Given the description of an element on the screen output the (x, y) to click on. 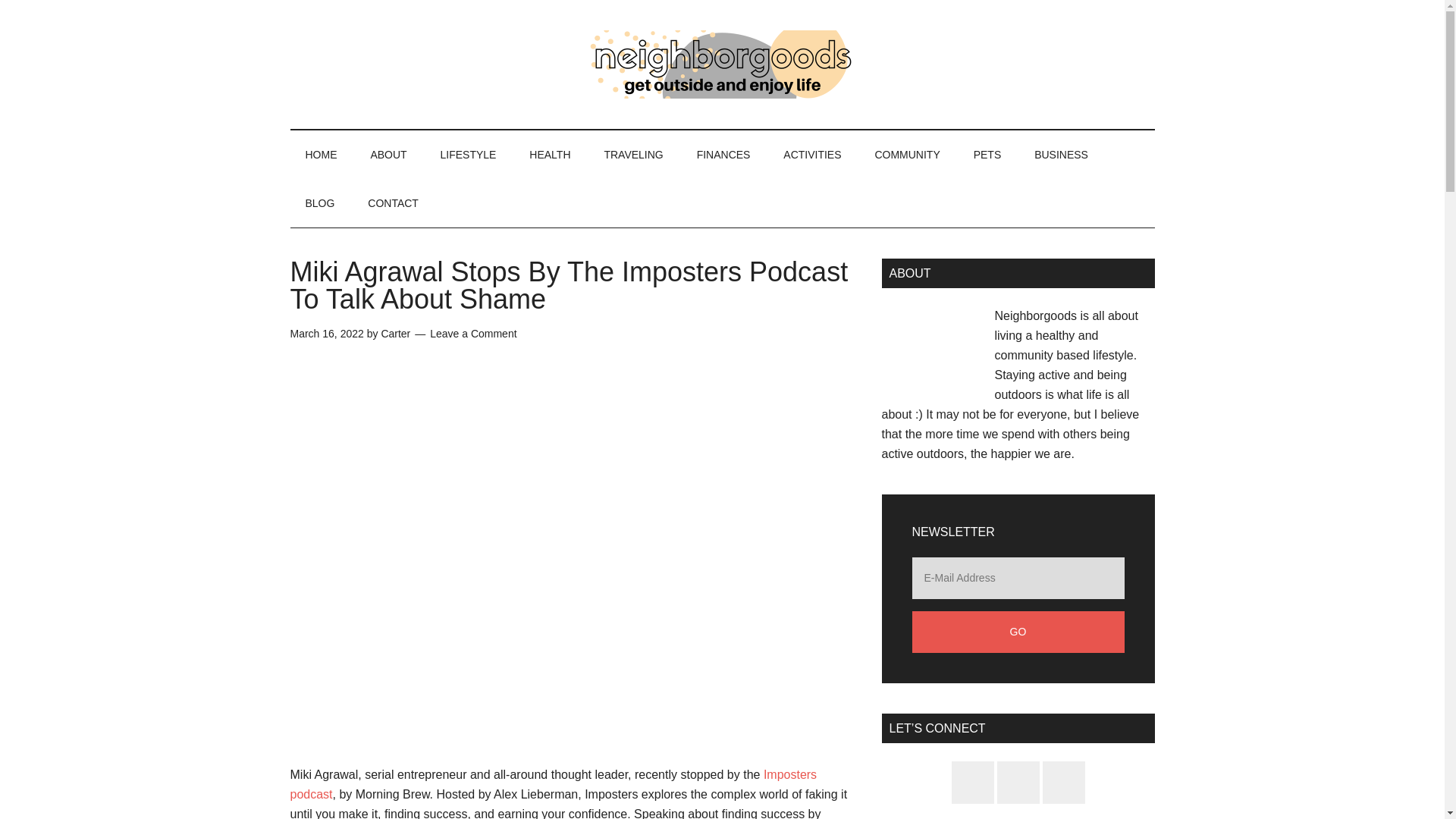
CONTACT (392, 203)
BLOG (319, 203)
ACTIVITIES (812, 154)
Go (1017, 631)
BUSINESS (1061, 154)
Leave a Comment (472, 333)
Carter (395, 333)
PETS (987, 154)
ABOUT (388, 154)
Go (1017, 631)
